Given the description of an element on the screen output the (x, y) to click on. 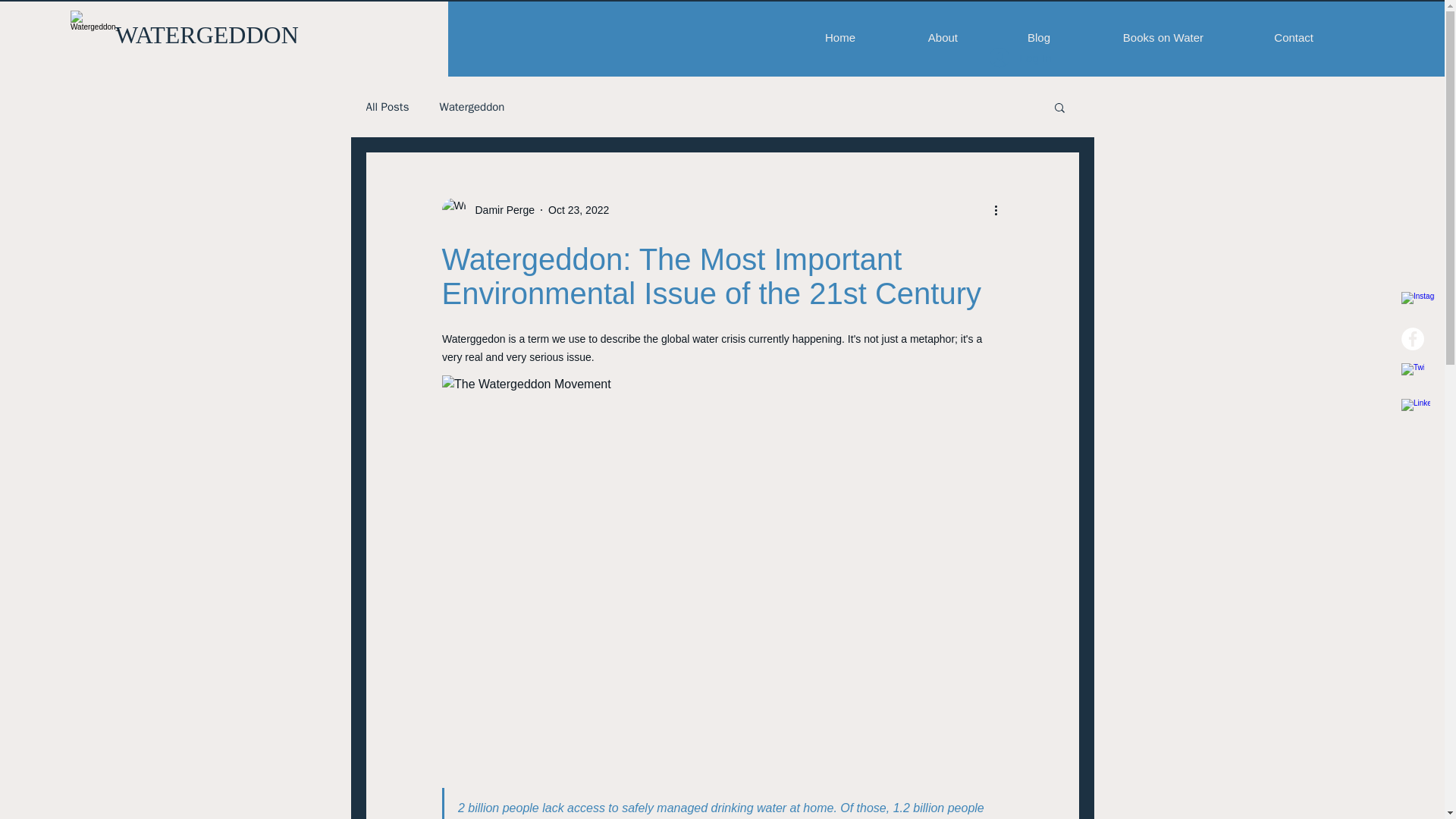
All Posts (387, 106)
Watergeddon (471, 106)
Damir Perge (499, 209)
About (917, 37)
Log In (1020, 57)
Contact (1269, 37)
WATERGEDDON (206, 34)
Oct 23, 2022 (578, 209)
Books on Water (1137, 37)
Blog (1015, 37)
